Given the description of an element on the screen output the (x, y) to click on. 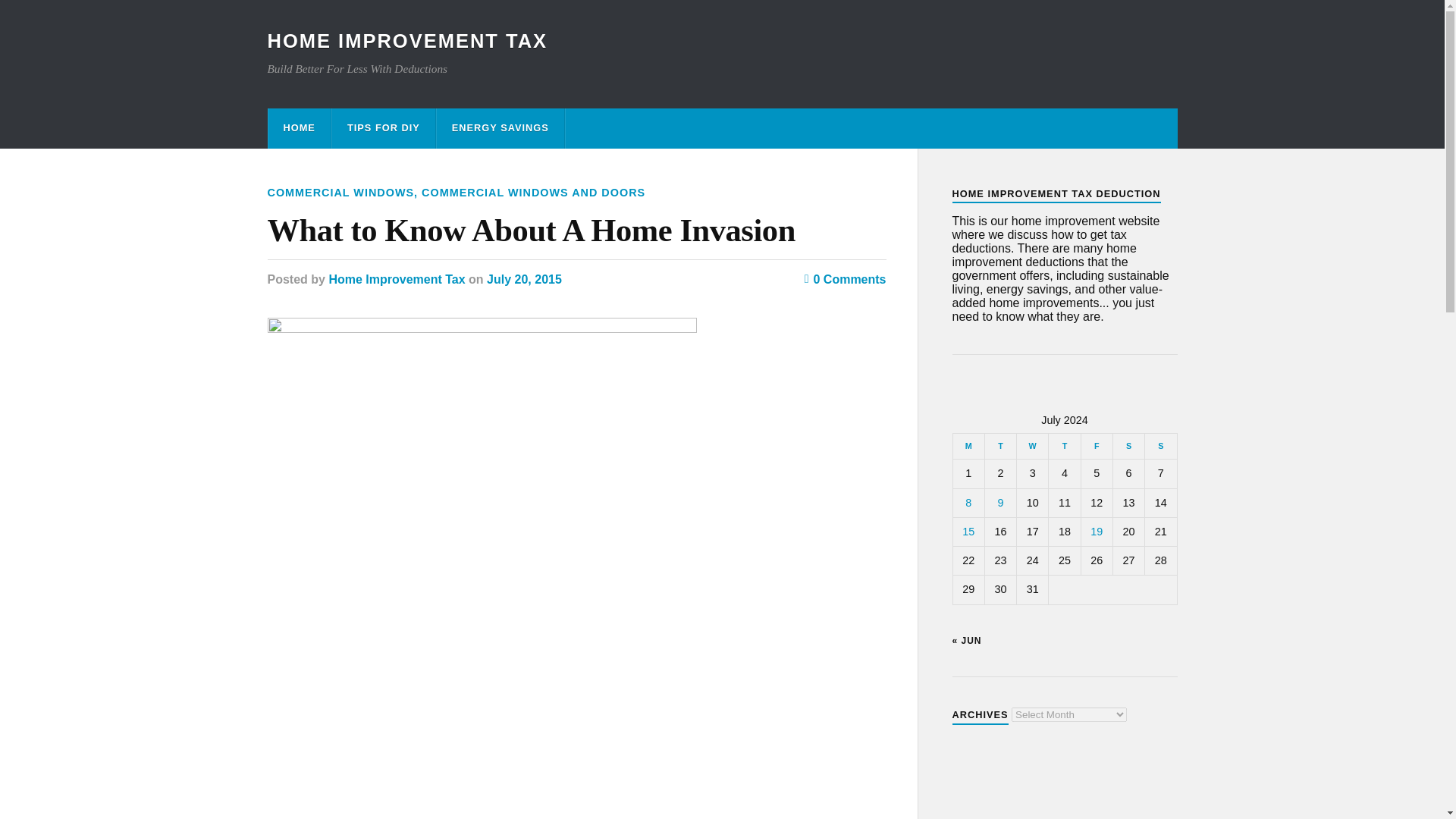
July 20, 2015 (524, 278)
HOME IMPROVEMENT TAX (406, 40)
ENERGY SAVINGS (500, 128)
COMMERCIAL WINDOWS (339, 192)
Sunday (1160, 446)
HOME (298, 128)
Saturday (1128, 446)
19 (1096, 531)
15 (968, 531)
Monday (968, 446)
0 Comments (845, 278)
TIPS FOR DIY (383, 128)
Tuesday (1000, 446)
Home Improvement Tax (396, 278)
Wednesday (1032, 446)
